Given the description of an element on the screen output the (x, y) to click on. 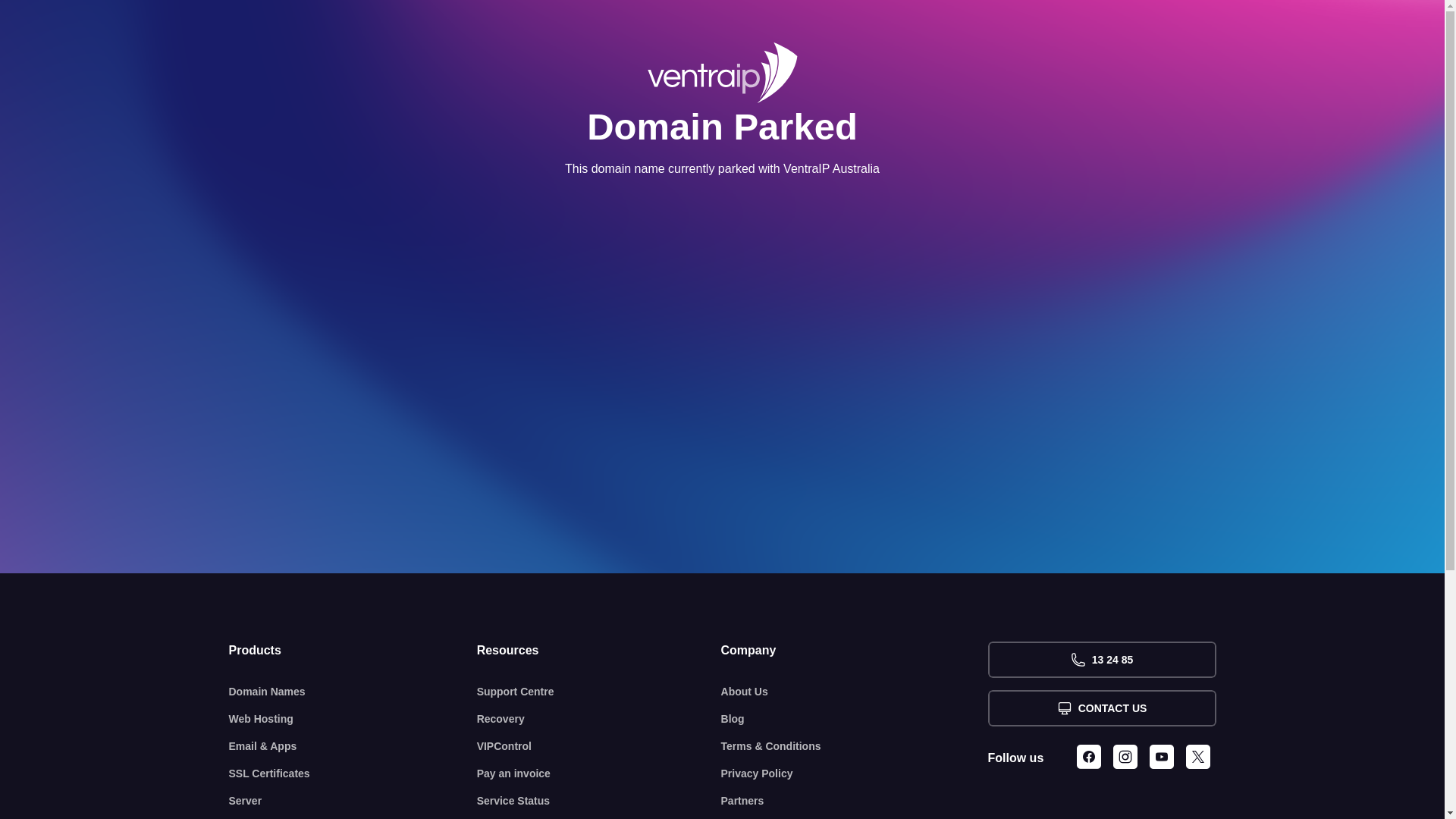
Email & Apps Element type: text (352, 745)
Terms & Conditions Element type: text (854, 745)
Pay an invoice Element type: text (598, 773)
Privacy Policy Element type: text (854, 773)
Recovery Element type: text (598, 718)
SSL Certificates Element type: text (352, 773)
About Us Element type: text (854, 691)
VIPControl Element type: text (598, 745)
Support Centre Element type: text (598, 691)
13 24 85 Element type: text (1101, 659)
CONTACT US Element type: text (1101, 708)
Blog Element type: text (854, 718)
Service Status Element type: text (598, 800)
Web Hosting Element type: text (352, 718)
Partners Element type: text (854, 800)
Server Element type: text (352, 800)
Domain Names Element type: text (352, 691)
